Given the description of an element on the screen output the (x, y) to click on. 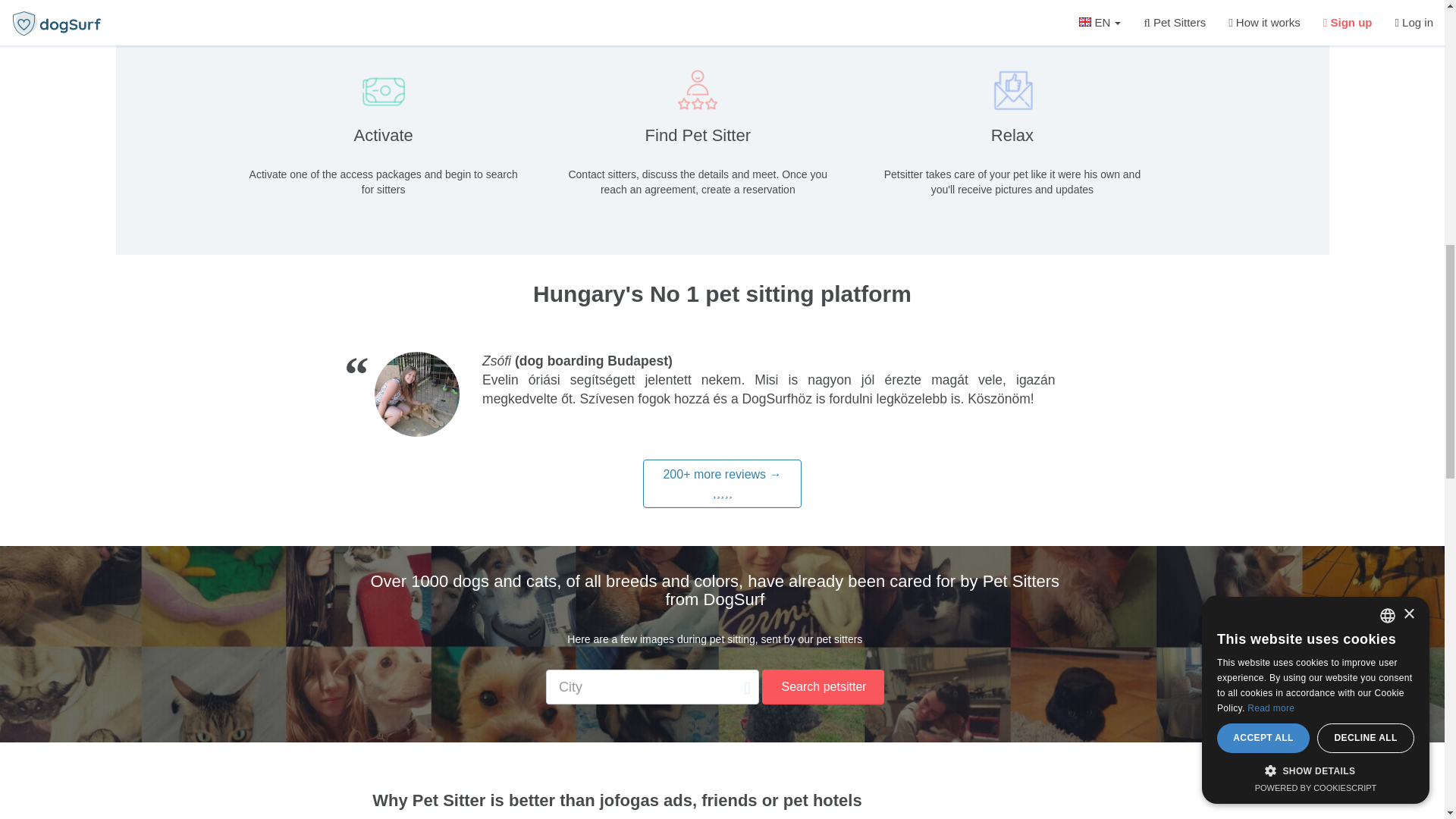
Search petsitter (822, 686)
Source Title (496, 360)
